Given the description of an element on the screen output the (x, y) to click on. 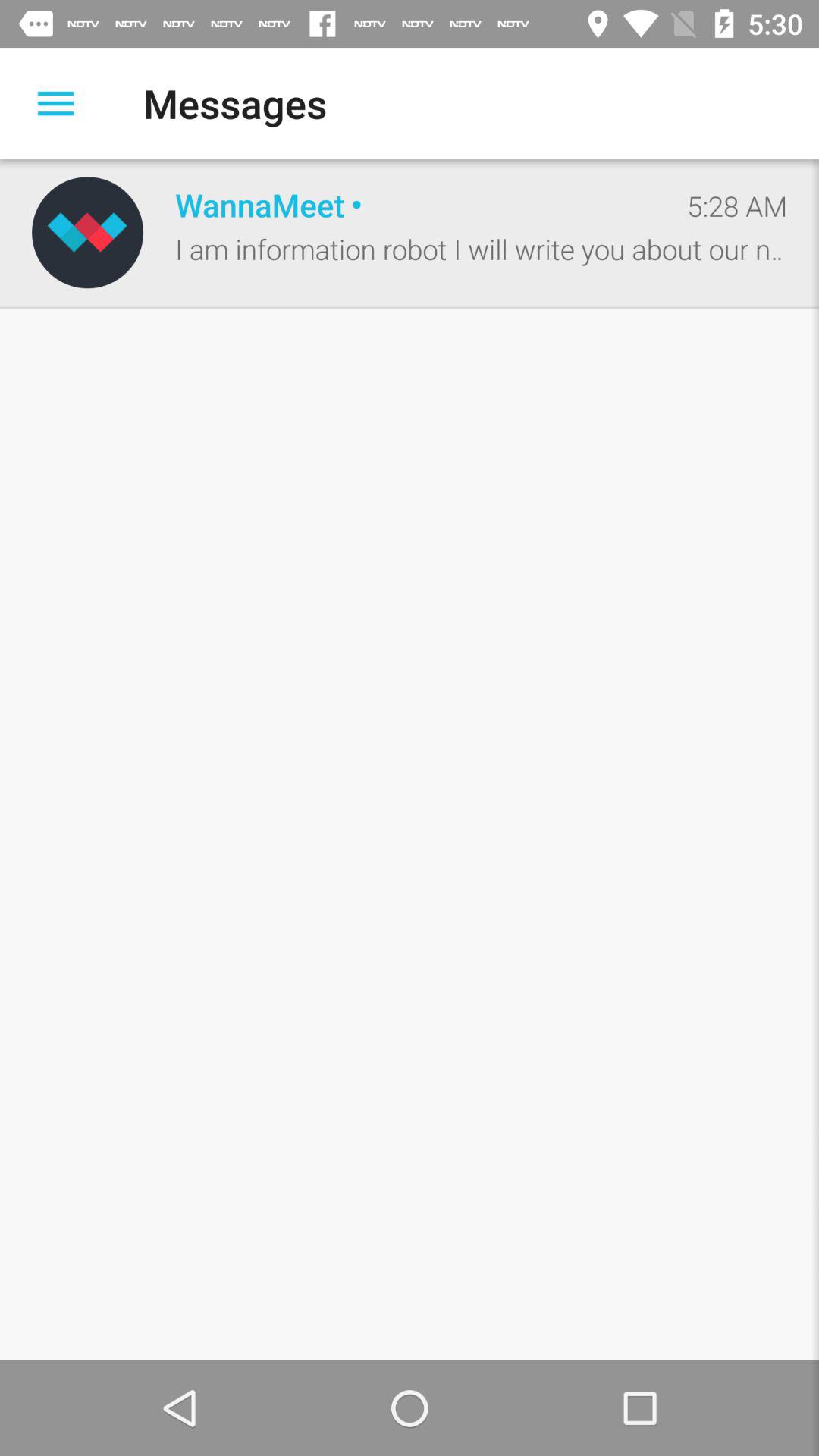
click icon to the left of wannameet   icon (87, 232)
